Given the description of an element on the screen output the (x, y) to click on. 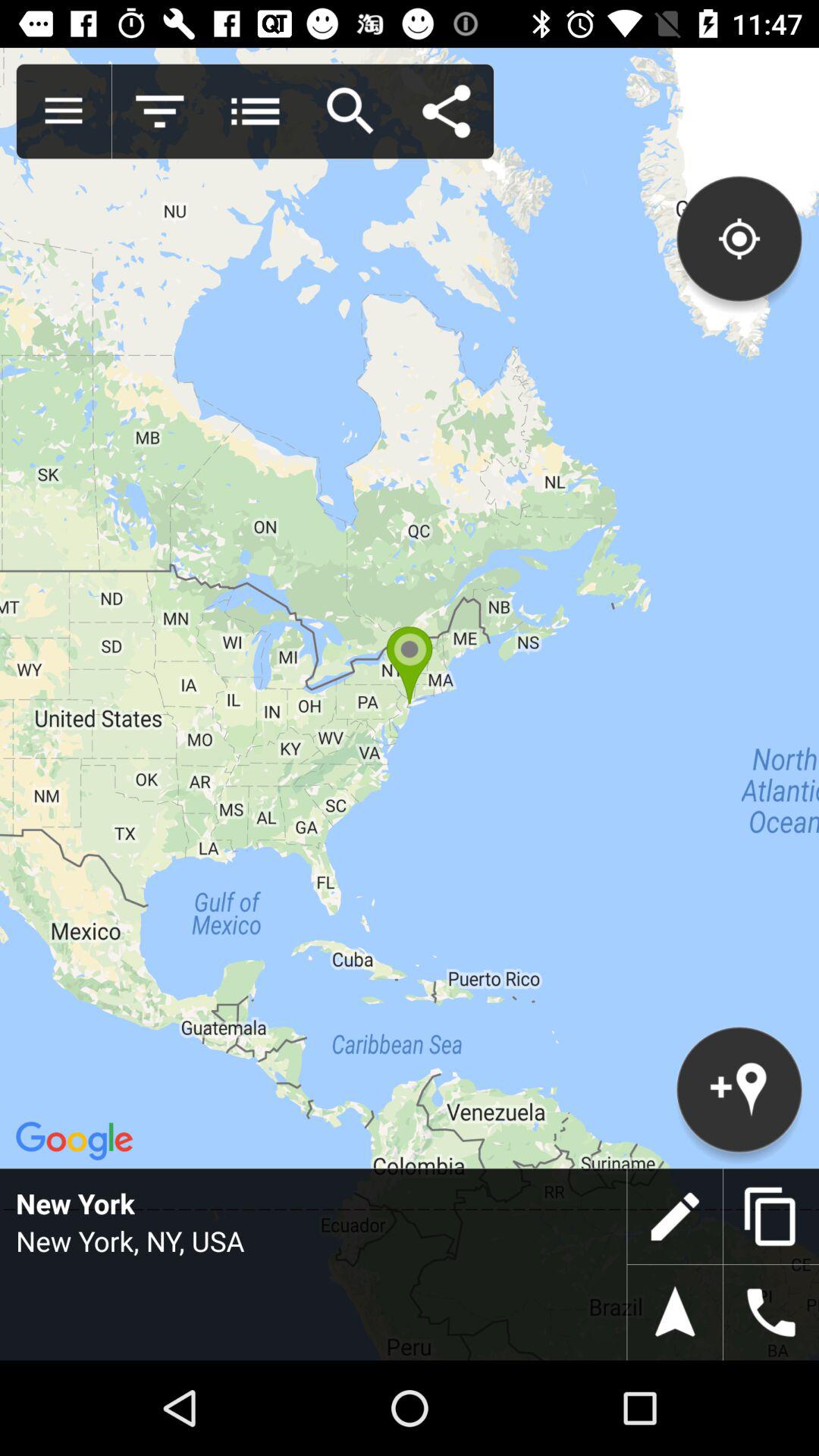
search (350, 111)
